Given the description of an element on the screen output the (x, y) to click on. 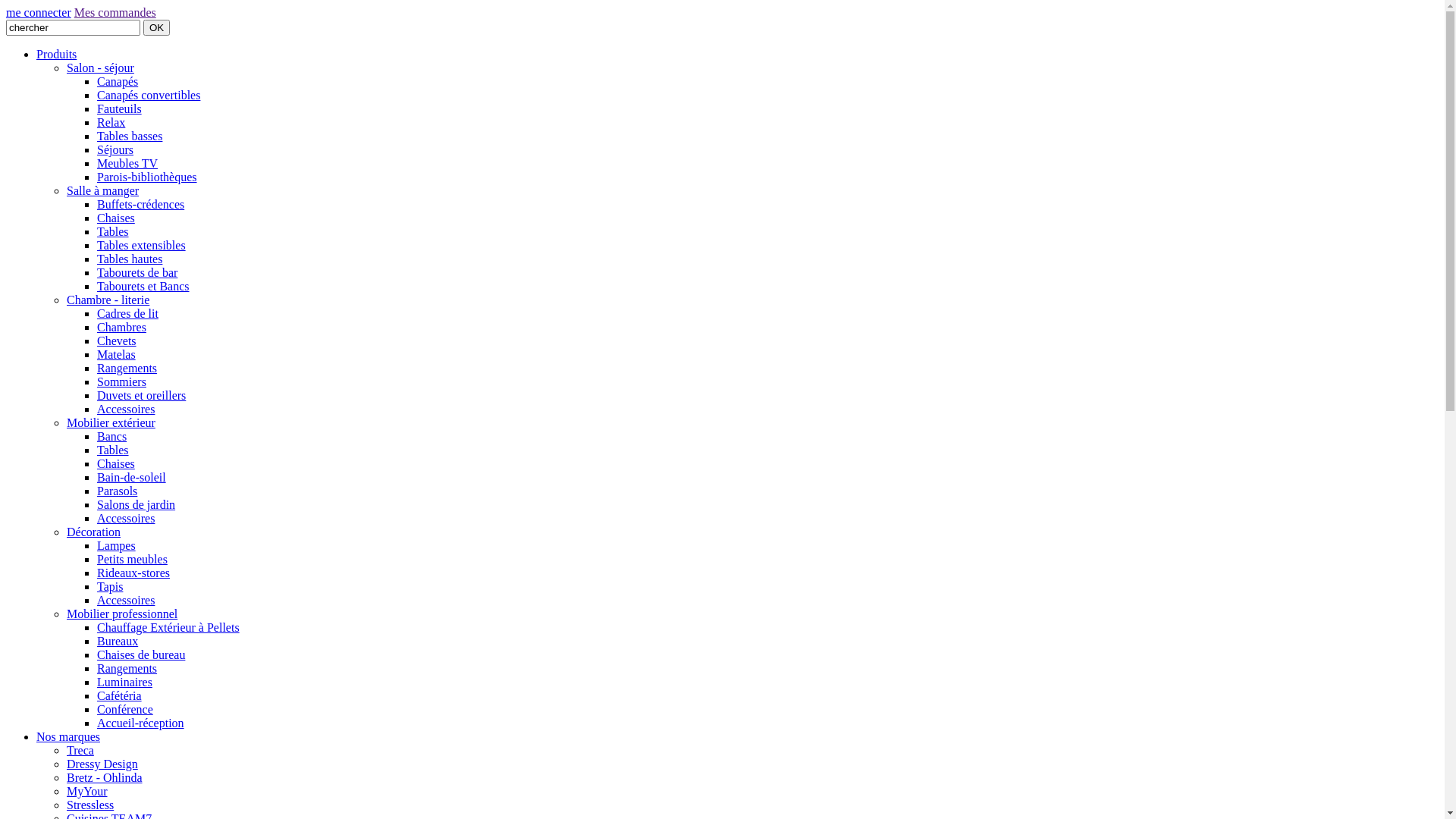
Relax Element type: text (111, 122)
Tapis Element type: text (109, 586)
Duvets et oreillers Element type: text (141, 395)
me connecter Element type: text (38, 12)
Petits meubles Element type: text (132, 558)
Accessoires Element type: text (125, 517)
Bureaux Element type: text (117, 640)
Tables hautes Element type: text (129, 258)
Chambres Element type: text (121, 326)
Nos marques Element type: text (68, 736)
Tabourets et Bancs Element type: text (143, 285)
Rideaux-stores Element type: text (133, 572)
Tables Element type: text (112, 449)
Tabourets de bar Element type: text (137, 272)
Chambre - literie Element type: text (107, 299)
Bretz - Ohlinda Element type: text (104, 777)
Tables basses Element type: text (129, 135)
Luminaires Element type: text (124, 681)
Stressless Element type: text (89, 804)
Chaises Element type: text (115, 217)
Salons de jardin Element type: text (136, 504)
Rangements Element type: text (126, 367)
MyYour Element type: text (86, 790)
Bancs Element type: text (111, 435)
Tables extensibles Element type: text (141, 244)
Chaises de bureau Element type: text (141, 654)
Sommiers Element type: text (121, 381)
OK Element type: text (156, 27)
Tables Element type: text (112, 231)
Accessoires Element type: text (125, 599)
Matelas Element type: text (116, 354)
Treca Element type: text (80, 749)
Fauteuils Element type: text (119, 108)
Bain-de-soleil Element type: text (131, 476)
Meubles TV Element type: text (127, 162)
Accessoires Element type: text (125, 408)
Chaises Element type: text (115, 463)
Mobilier professionnel Element type: text (121, 613)
Rangements Element type: text (126, 668)
Lampes Element type: text (116, 545)
Mes commandes Element type: text (115, 12)
Chevets Element type: text (116, 340)
Cadres de lit Element type: text (127, 313)
Produits Element type: text (56, 53)
Dressy Design Element type: text (102, 763)
Parasols Element type: text (117, 490)
